Given the description of an element on the screen output the (x, y) to click on. 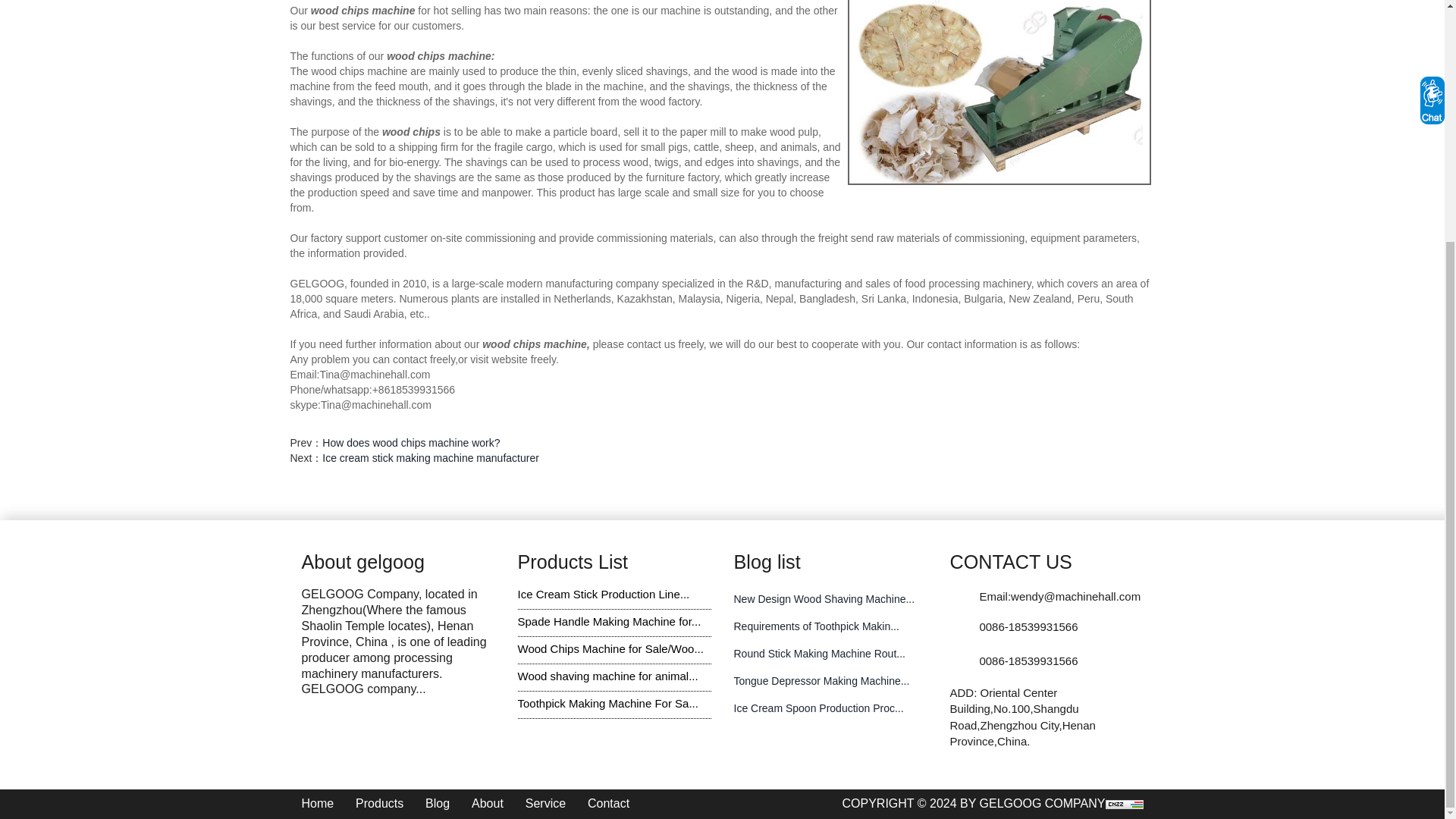
Service (545, 802)
Tongue Depressor Making Machine (821, 680)
Tongue Depressor Making Machine... (821, 680)
0086-18539931566 (1027, 626)
Contact (608, 802)
Round Stick Making Machine Rout (819, 653)
Ice Cream Spoon Production Proc (818, 707)
0086-18539931566 (1027, 660)
Blog (437, 802)
Ice Cream Stick Production Line... (602, 594)
